Given the description of an element on the screen output the (x, y) to click on. 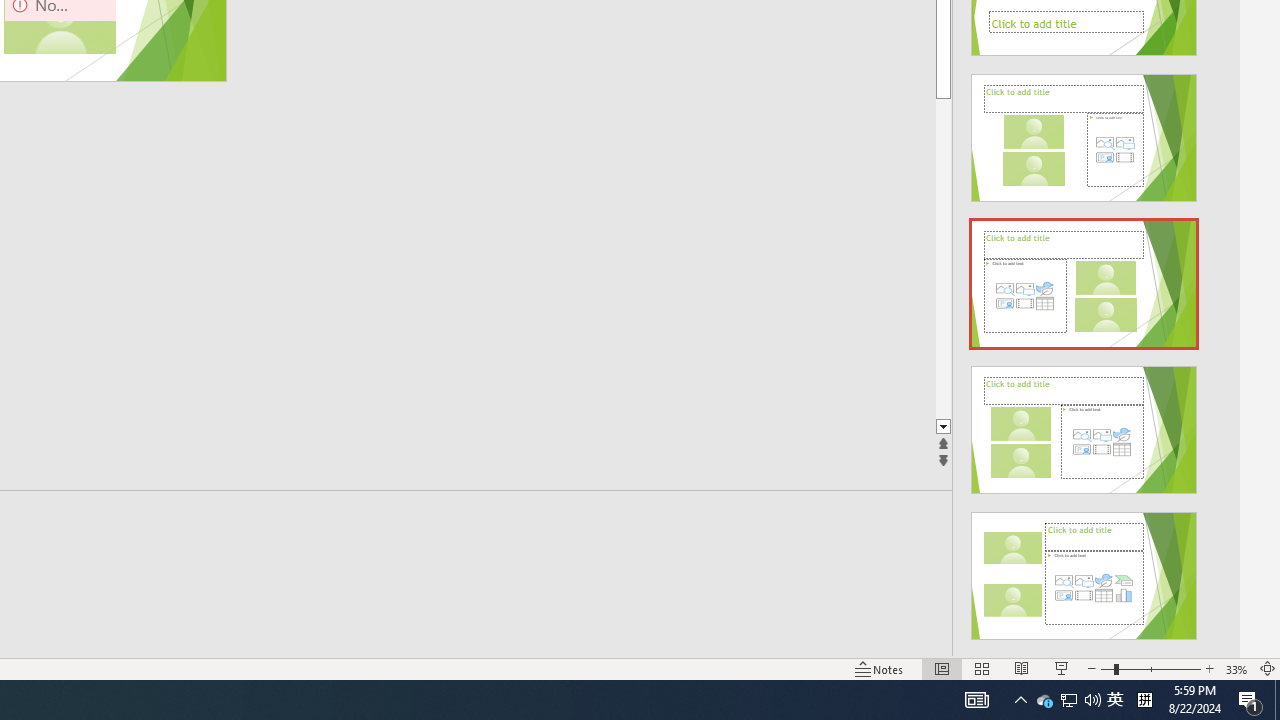
Zoom 33% (1236, 668)
